Given the description of an element on the screen output the (x, y) to click on. 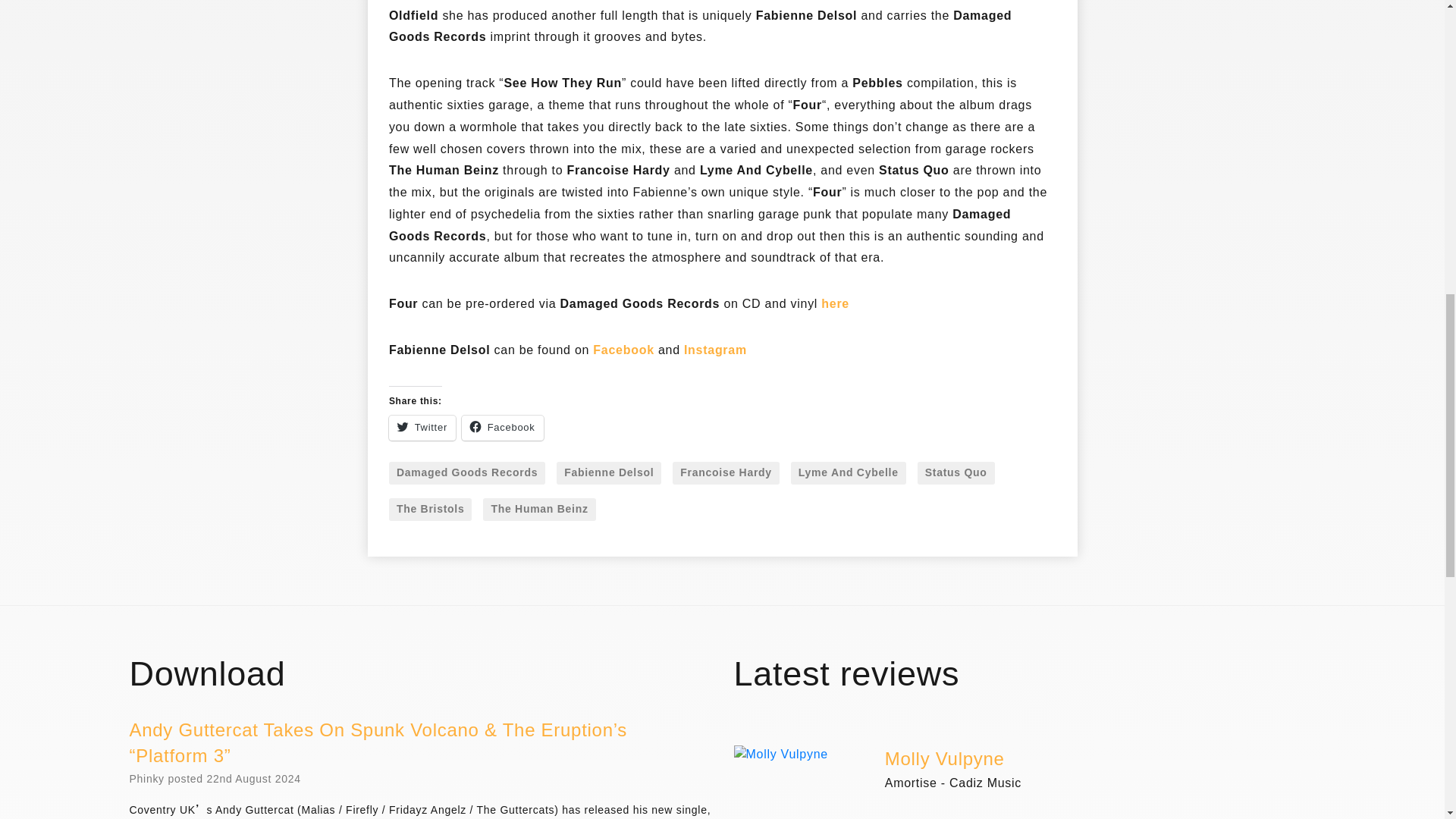
Click to share on Facebook (502, 427)
Lyme And Cybelle (847, 472)
Fabienne Delsol (608, 472)
Molly Vulpyne (944, 759)
The Bristols (429, 508)
Twitter (421, 427)
here (834, 304)
Instagram (715, 350)
Damaged Goods Records (466, 472)
Facebook (622, 350)
